Given the description of an element on the screen output the (x, y) to click on. 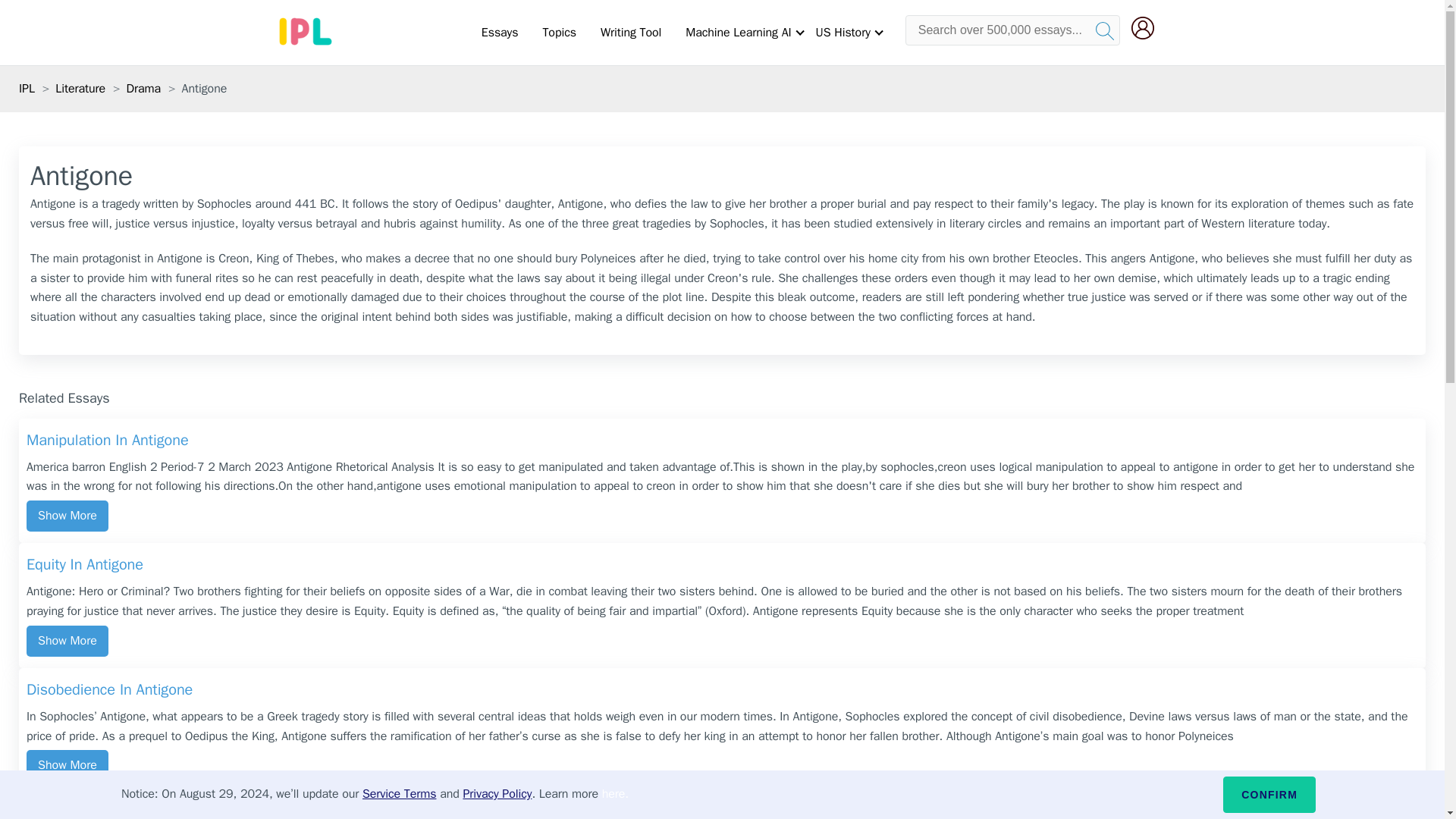
Machine Learning AI (737, 32)
US History (842, 32)
Show More (66, 516)
Show More (66, 766)
Writing Tool (630, 32)
Disobedience In Antigone (722, 691)
IPL (26, 88)
Essays (499, 32)
Show More (66, 641)
